Given the description of an element on the screen output the (x, y) to click on. 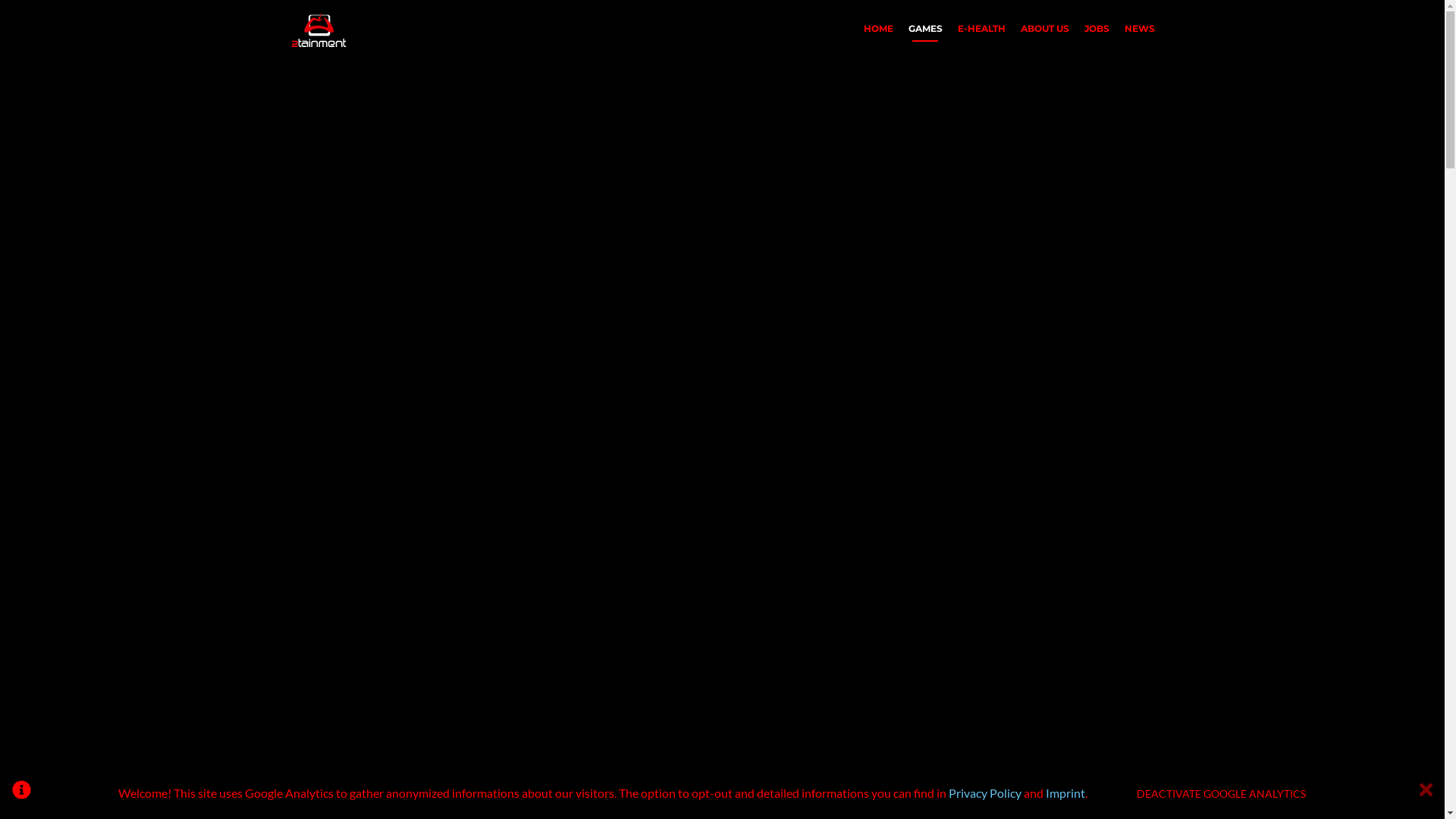
Google Analytics Opt-Out Information Element type: hover (21, 793)
Imprint Element type: text (1065, 792)
ABOUT US Element type: text (1044, 28)
NEWS Element type: text (1138, 28)
GAMES Element type: text (925, 28)
Privacy Policy Element type: text (984, 792)
DEACTIVATE GOOGLE ANALYTICS Element type: text (1221, 793)
HOME Element type: text (877, 28)
E-HEALTH Element type: text (980, 28)
JOBS Element type: text (1096, 28)
